Given the description of an element on the screen output the (x, y) to click on. 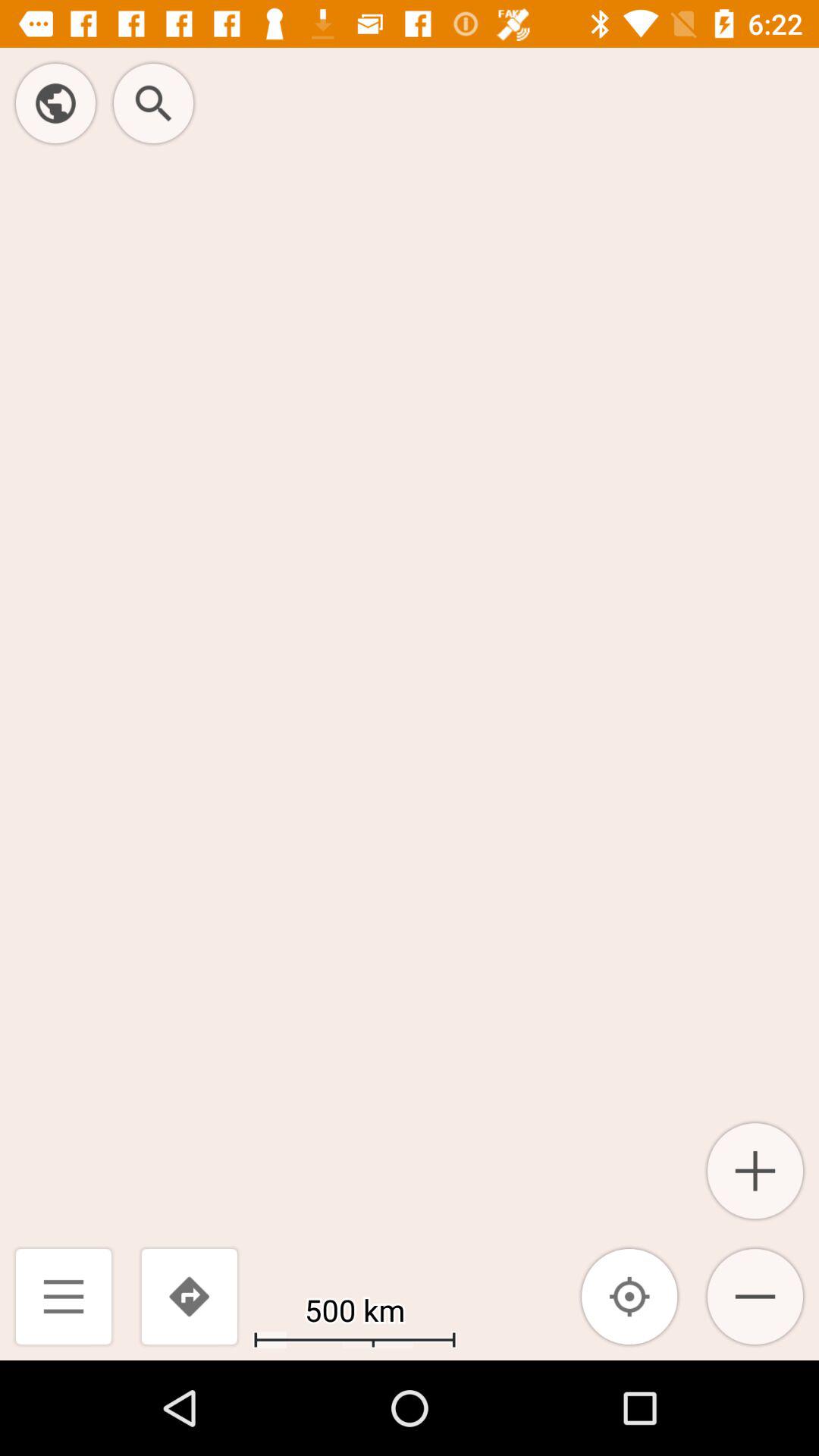
click item to the left of the 500 km icon (189, 1296)
